Given the description of an element on the screen output the (x, y) to click on. 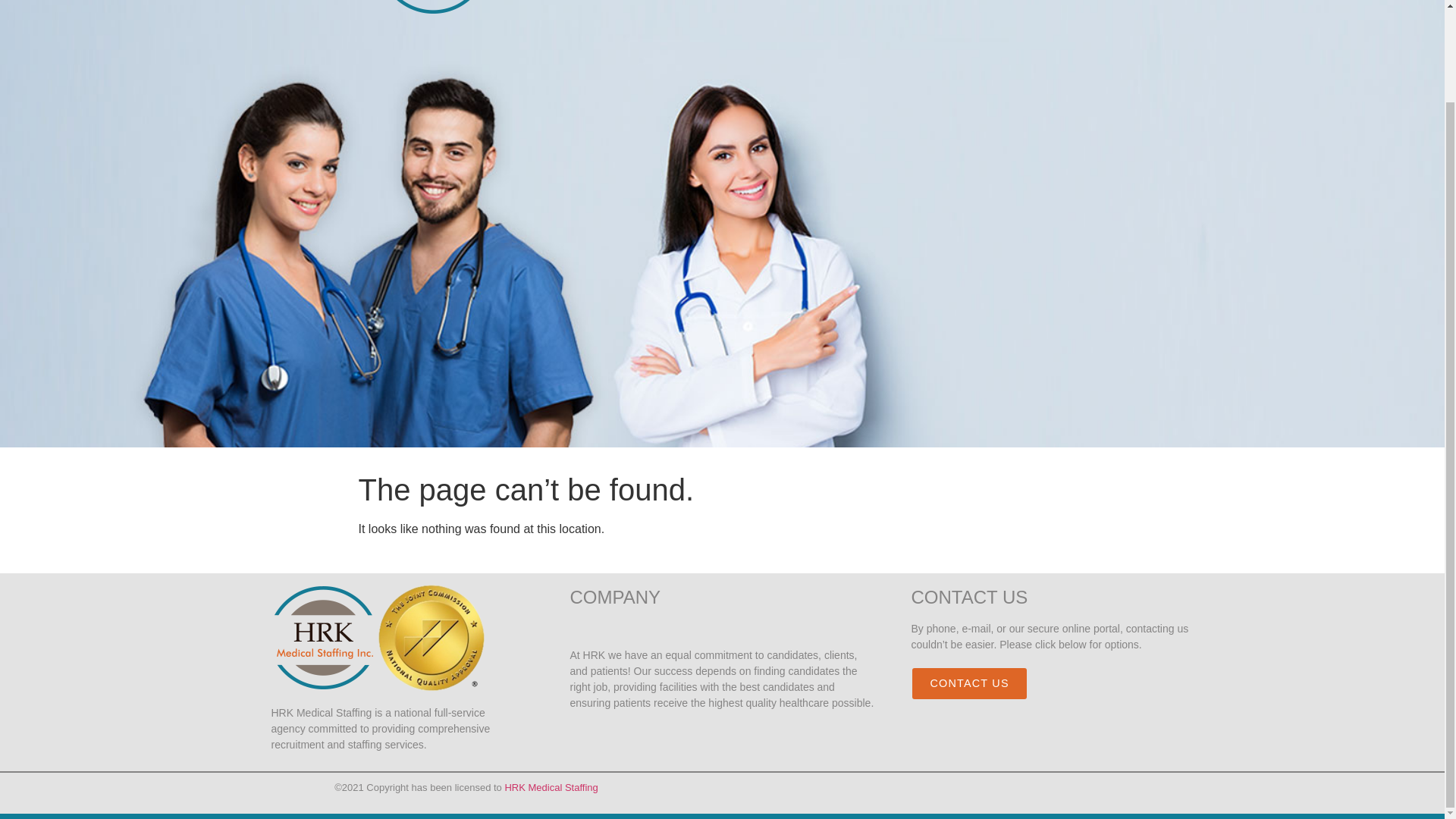
HRK Medical Staffing (549, 787)
CONTACT US (969, 684)
